Given the description of an element on the screen output the (x, y) to click on. 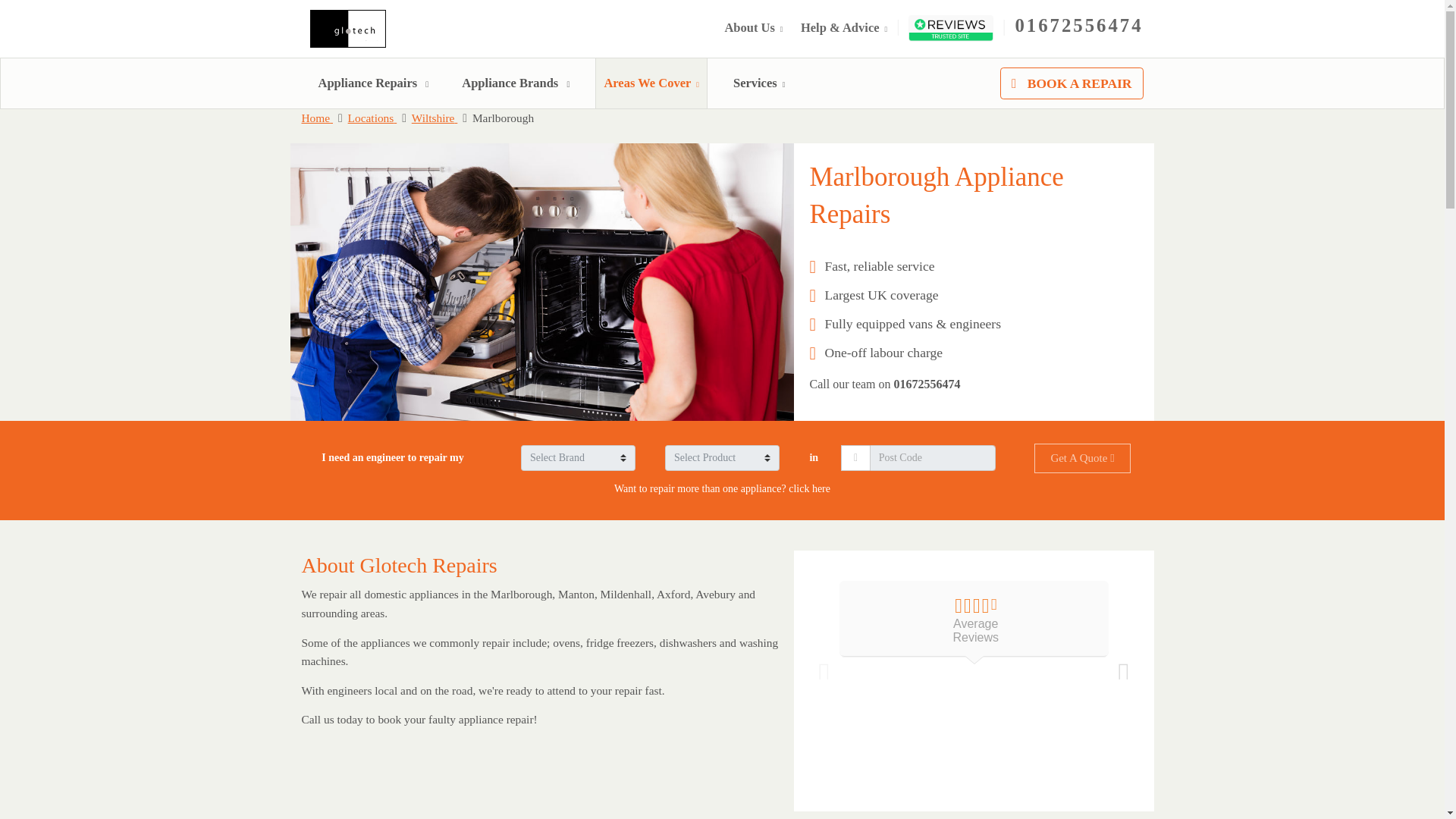
About Us (753, 27)
Appliance Repairs (373, 83)
Appliance Brands (515, 83)
Reviews Widget (973, 678)
01672556474 (1078, 25)
